Given the description of an element on the screen output the (x, y) to click on. 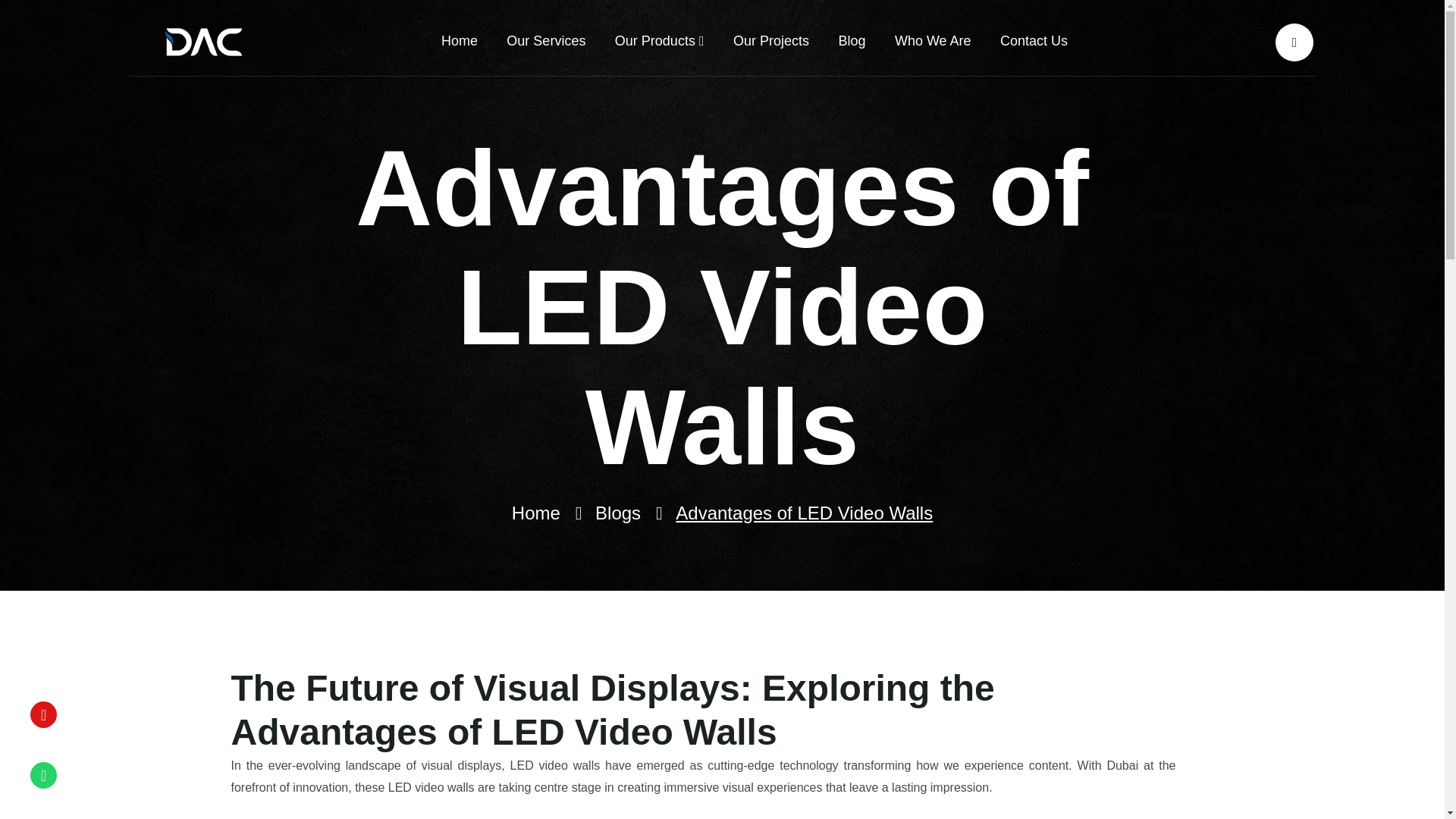
Our Services (545, 42)
Our Projects (771, 42)
Blogs (617, 513)
Who We Are (933, 42)
Home (536, 513)
Contact Us (1033, 42)
Our Products (659, 42)
